Given the description of an element on the screen output the (x, y) to click on. 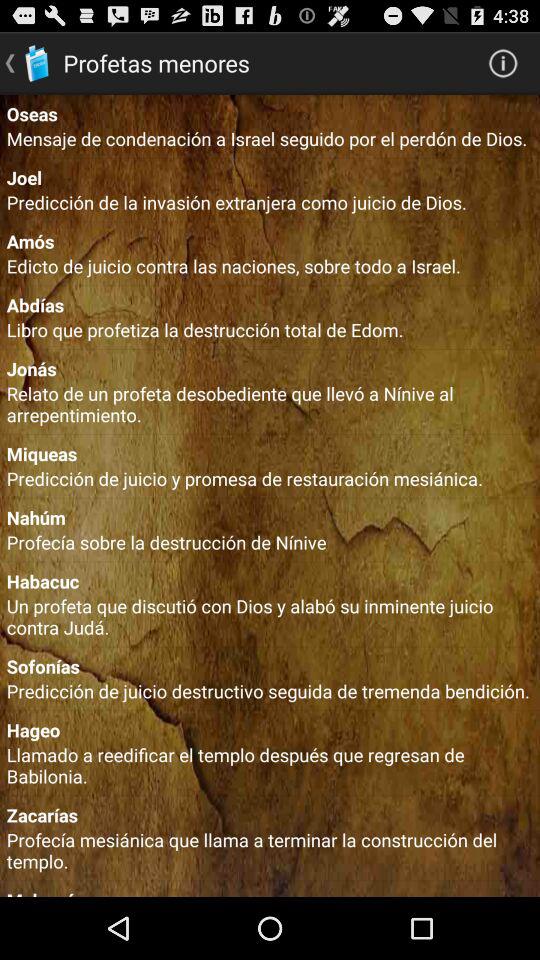
launch the libro que profetiza item (269, 329)
